Given the description of an element on the screen output the (x, y) to click on. 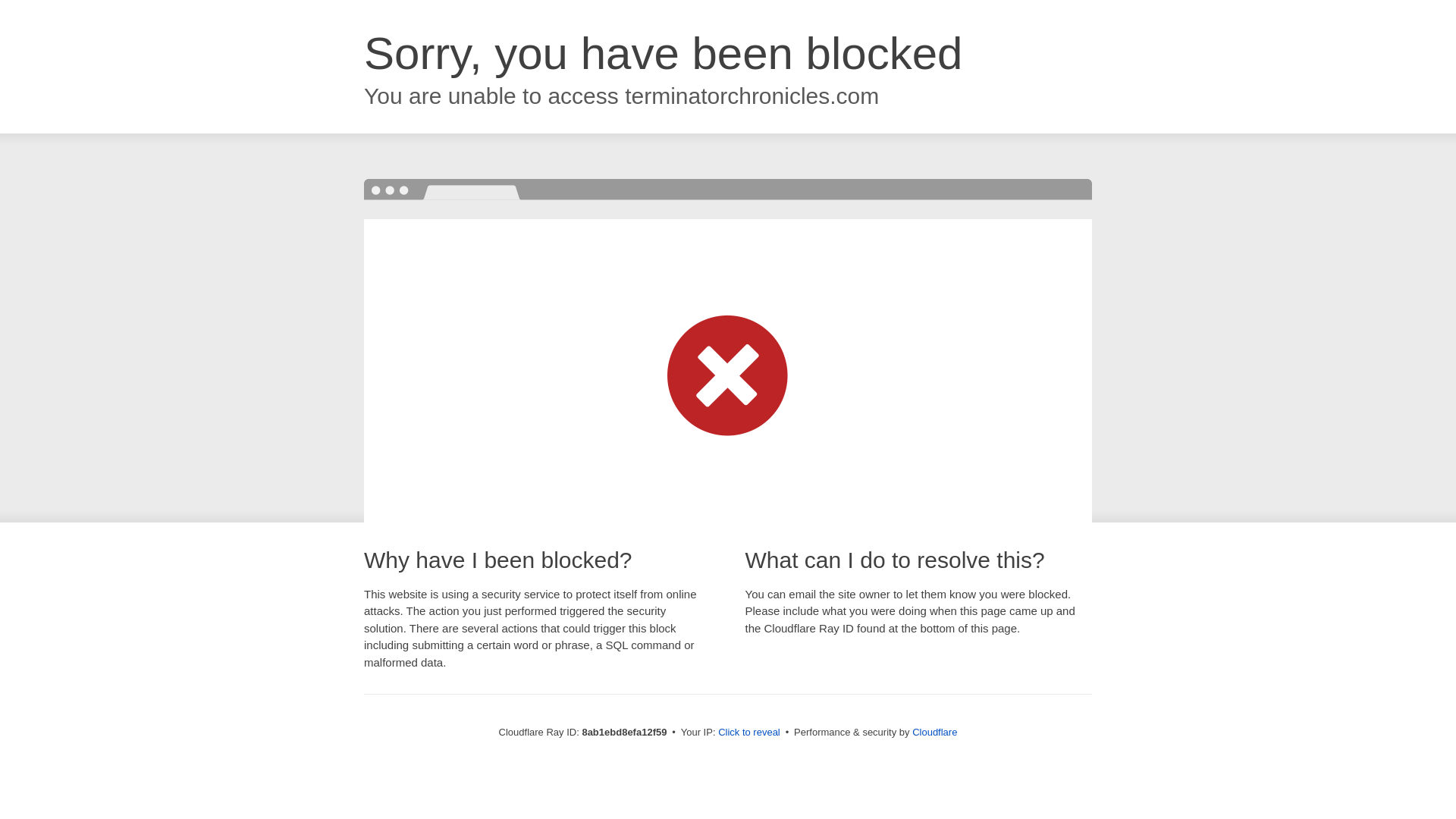
Cloudflare (934, 731)
Click to reveal (748, 732)
